Given the description of an element on the screen output the (x, y) to click on. 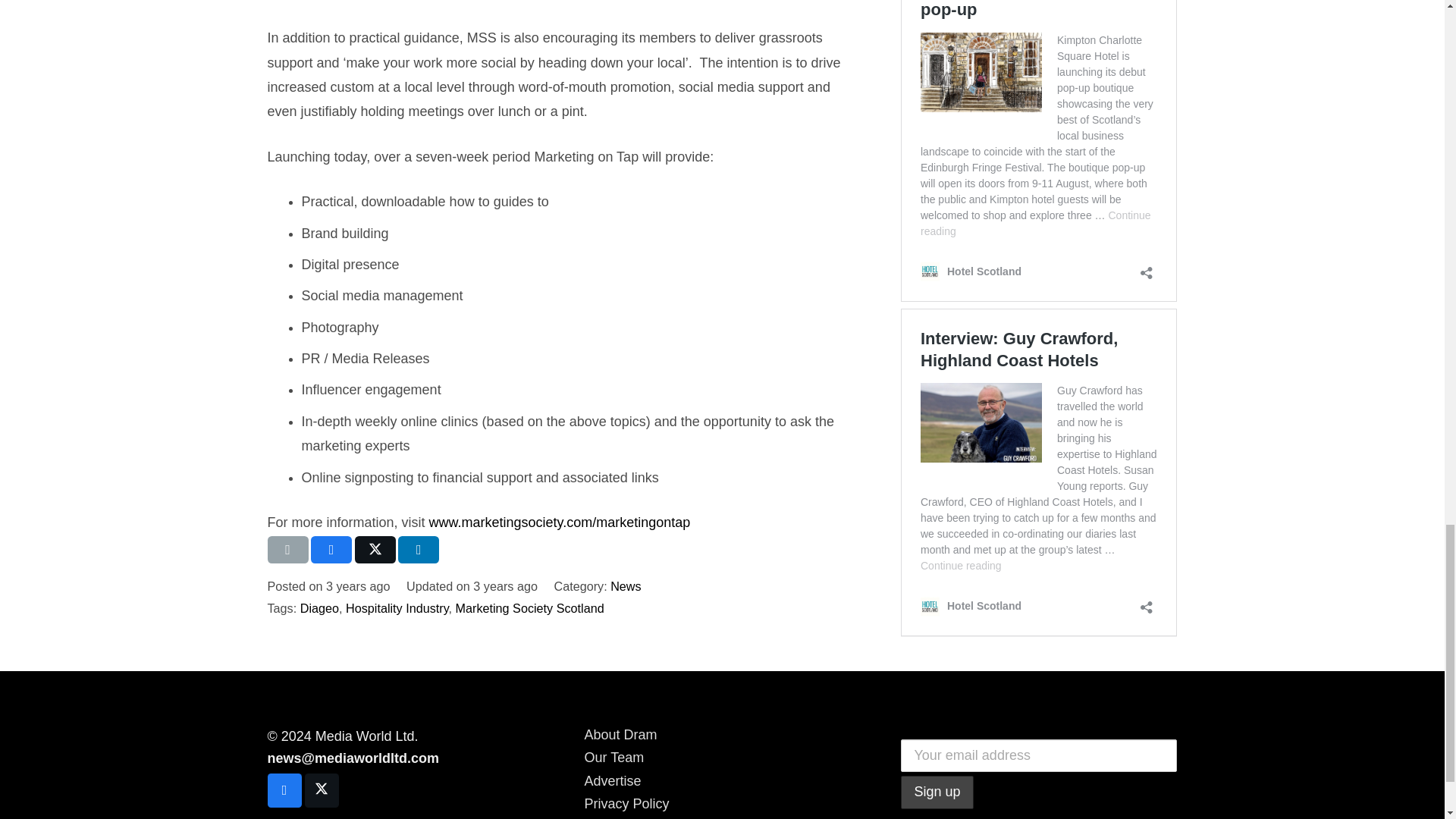
Marketing Society Scotland (529, 608)
Email this (286, 549)
Sign up (936, 792)
News (625, 585)
Tweet this (375, 549)
Twitter (321, 790)
Share this (331, 549)
Hospitality Industry (397, 608)
Facebook (283, 790)
Share this (418, 549)
